Given the description of an element on the screen output the (x, y) to click on. 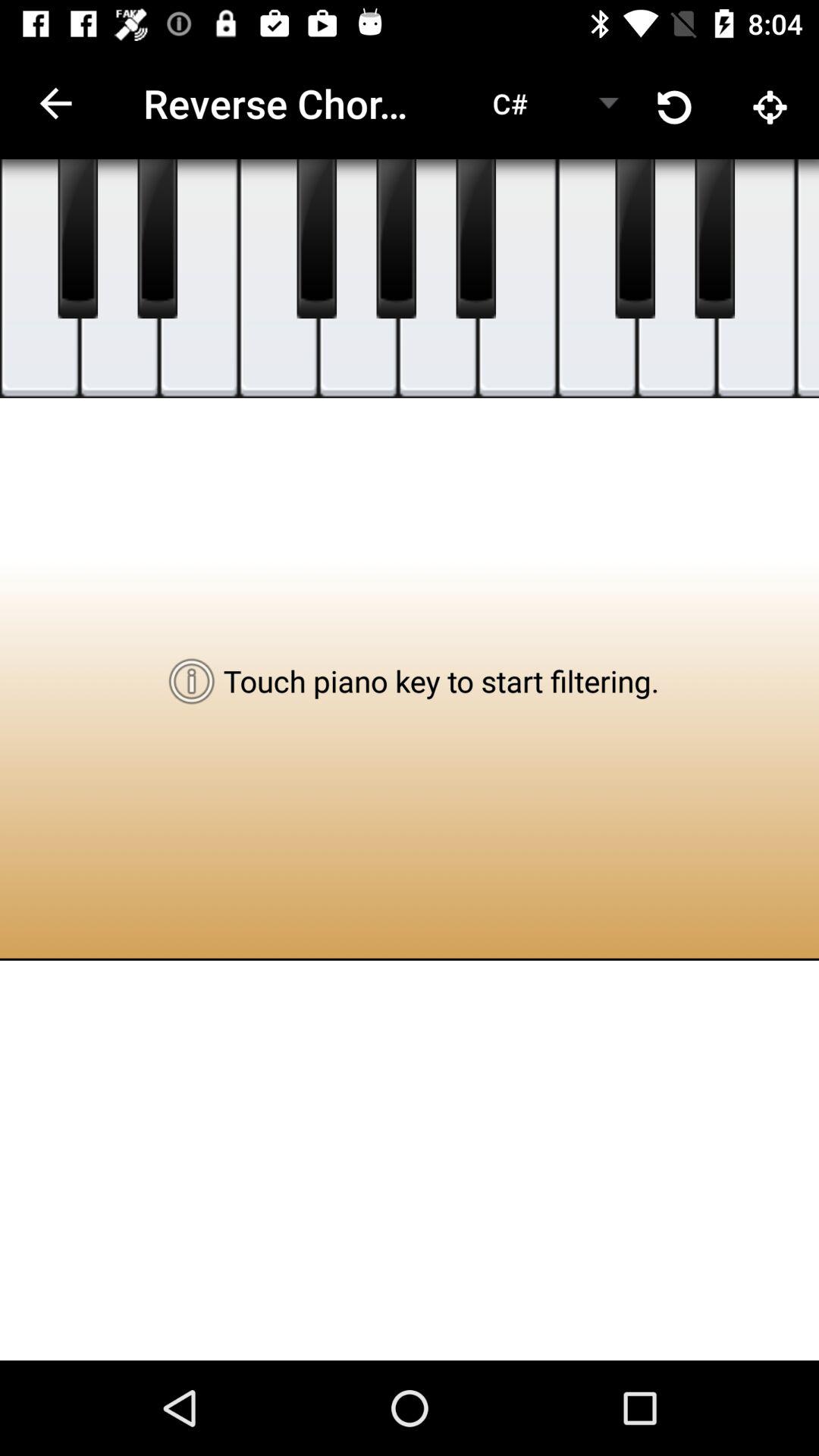
music keyboard button (475, 238)
